Given the description of an element on the screen output the (x, y) to click on. 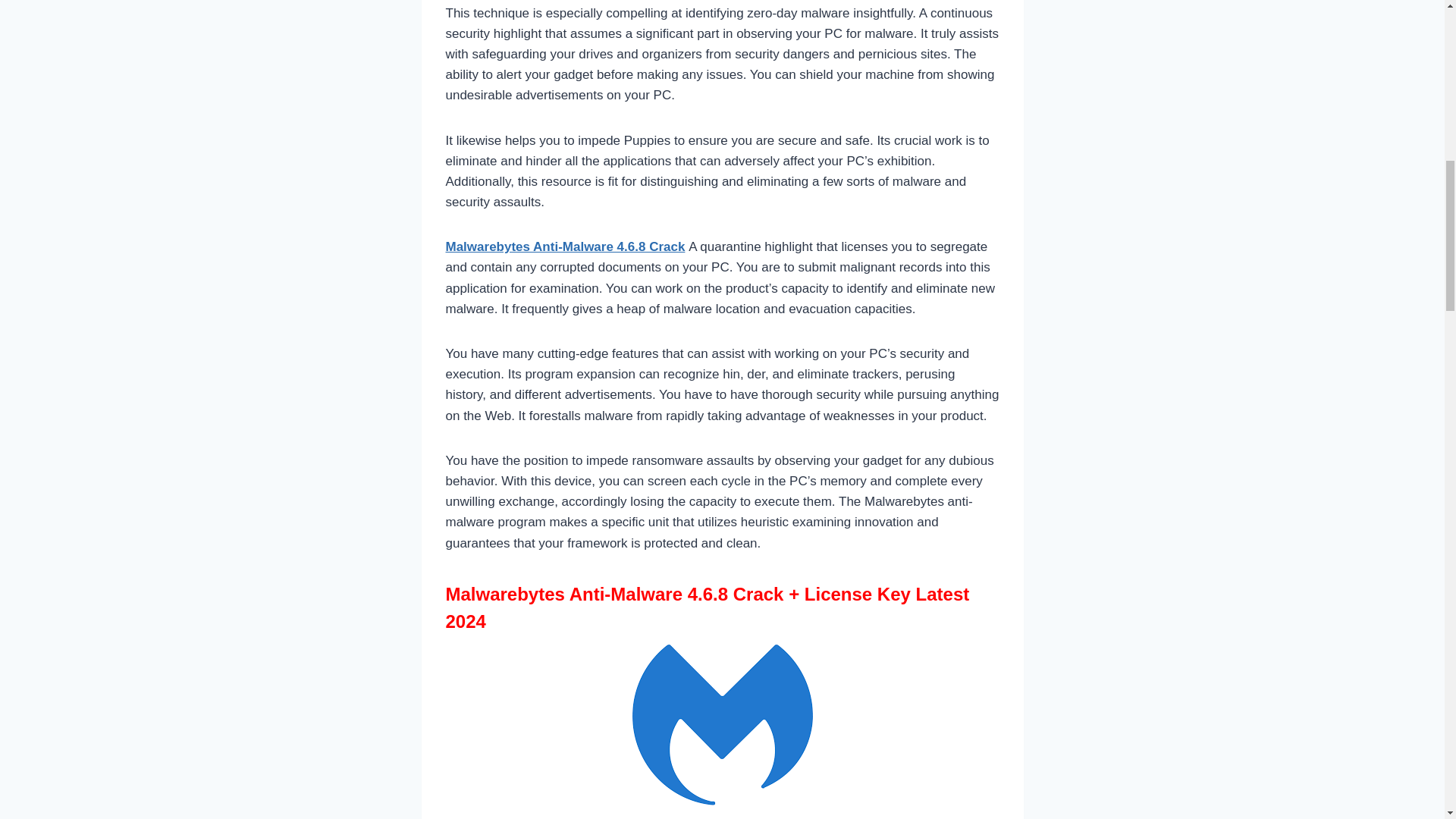
Malwarebytes Anti-Malware 4.6.8 Crack (565, 246)
